Given the description of an element on the screen output the (x, y) to click on. 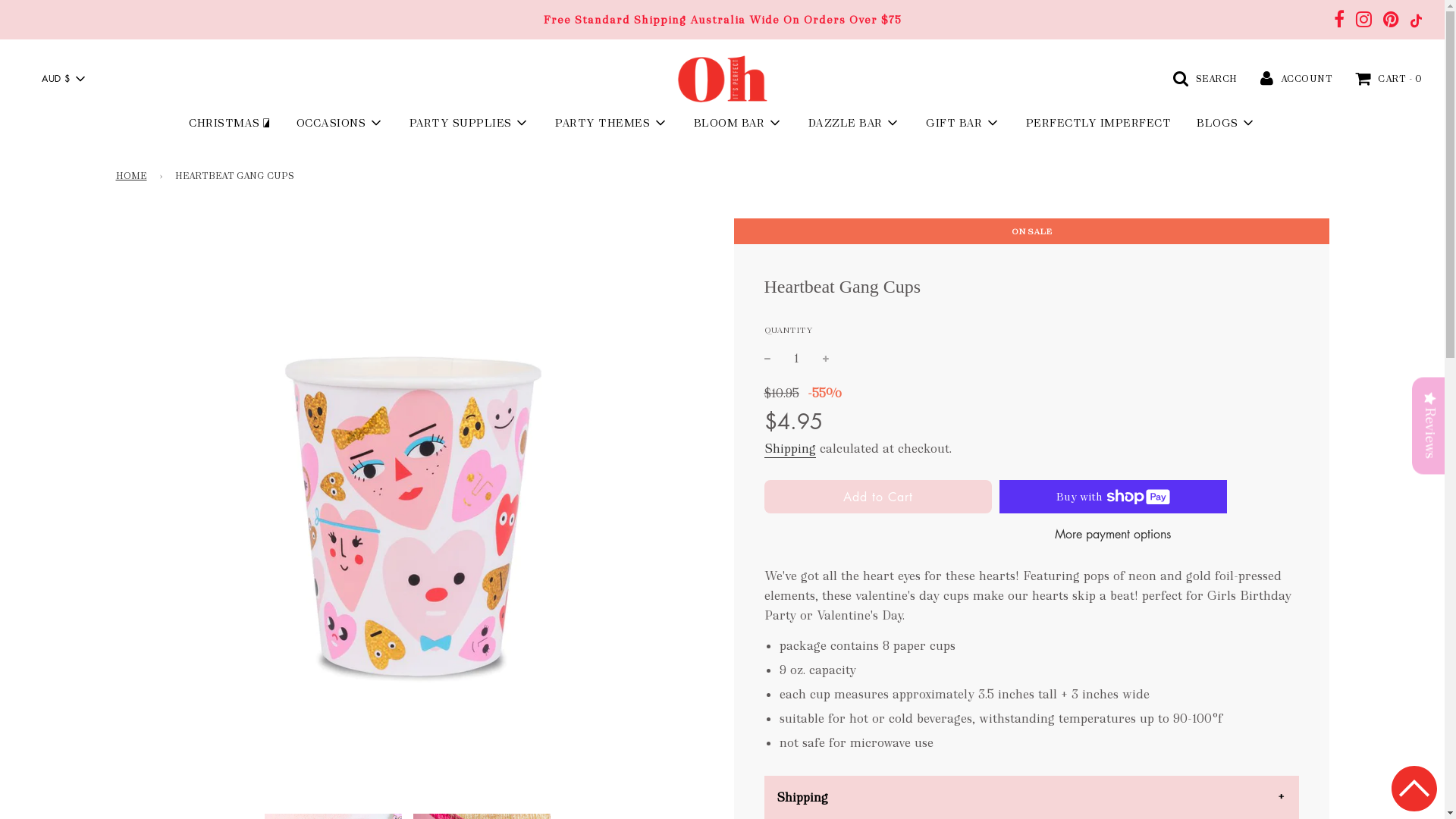
SEARCH Element type: text (1204, 77)
loading...
Add to Cart Element type: text (877, 497)
GIFT BAR Element type: text (962, 122)
HOME Element type: text (133, 176)
PARTY SUPPLIES Element type: text (468, 122)
Free Standard Shipping Australia Wide On Orders Over $75 Element type: text (721, 19)
Shipping Element type: text (789, 449)
ACCOUNT Element type: text (1296, 77)
More payment options Element type: text (1112, 534)
OCCASIONS Element type: text (340, 122)
PERFECTLY IMPERFECT Element type: text (1098, 122)
BLOOM BAR Element type: text (737, 122)
BLOGS Element type: text (1226, 122)
AUD $ Element type: text (62, 78)
CART - 0 Element type: text (1388, 77)
DAZZLE BAR Element type: text (853, 122)
PARTY THEMES Element type: text (611, 122)
